Given the description of an element on the screen output the (x, y) to click on. 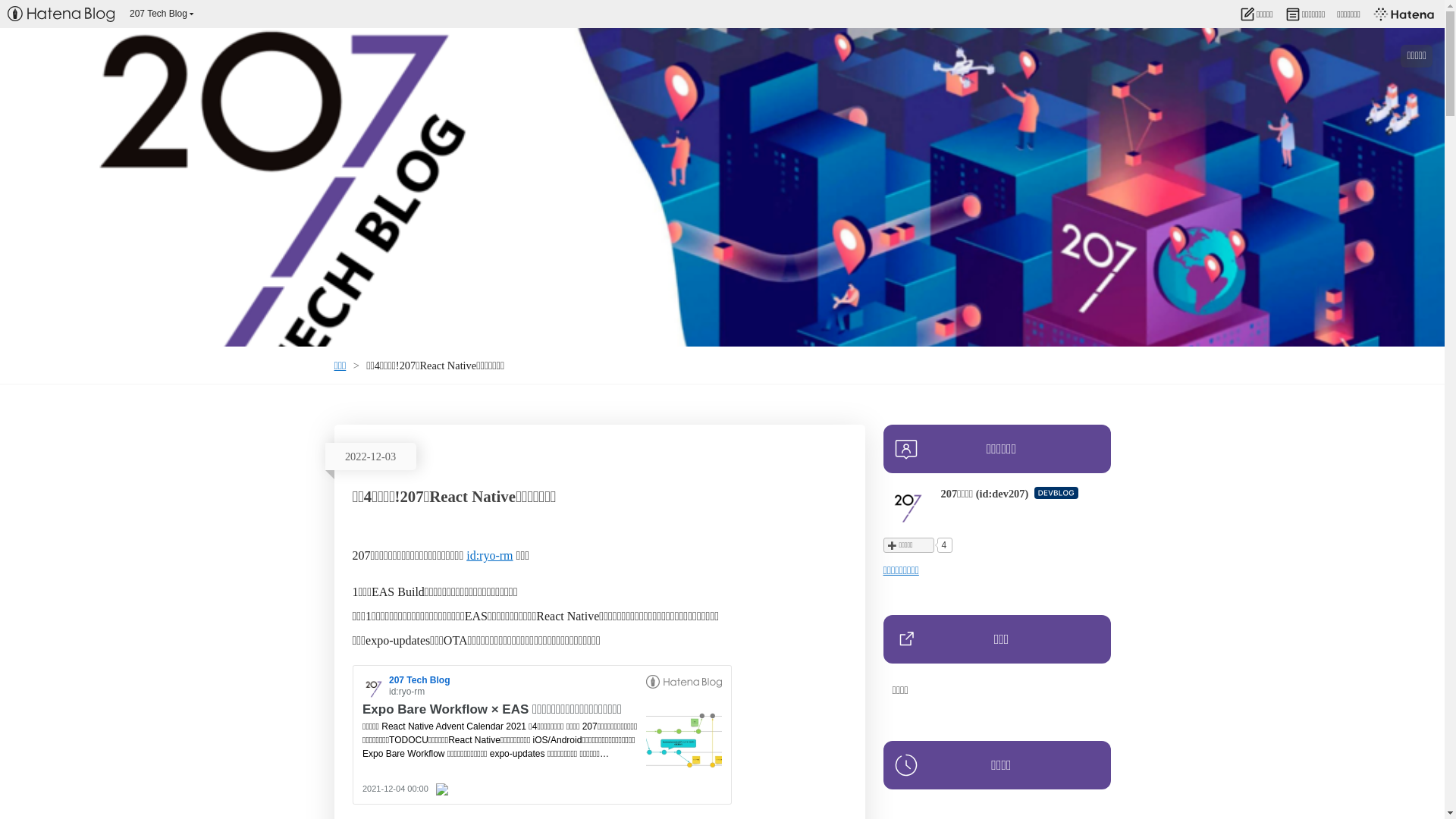
2022-12-03 Element type: text (369, 456)
id:ryo-rm Element type: text (489, 555)
